Given the description of an element on the screen output the (x, y) to click on. 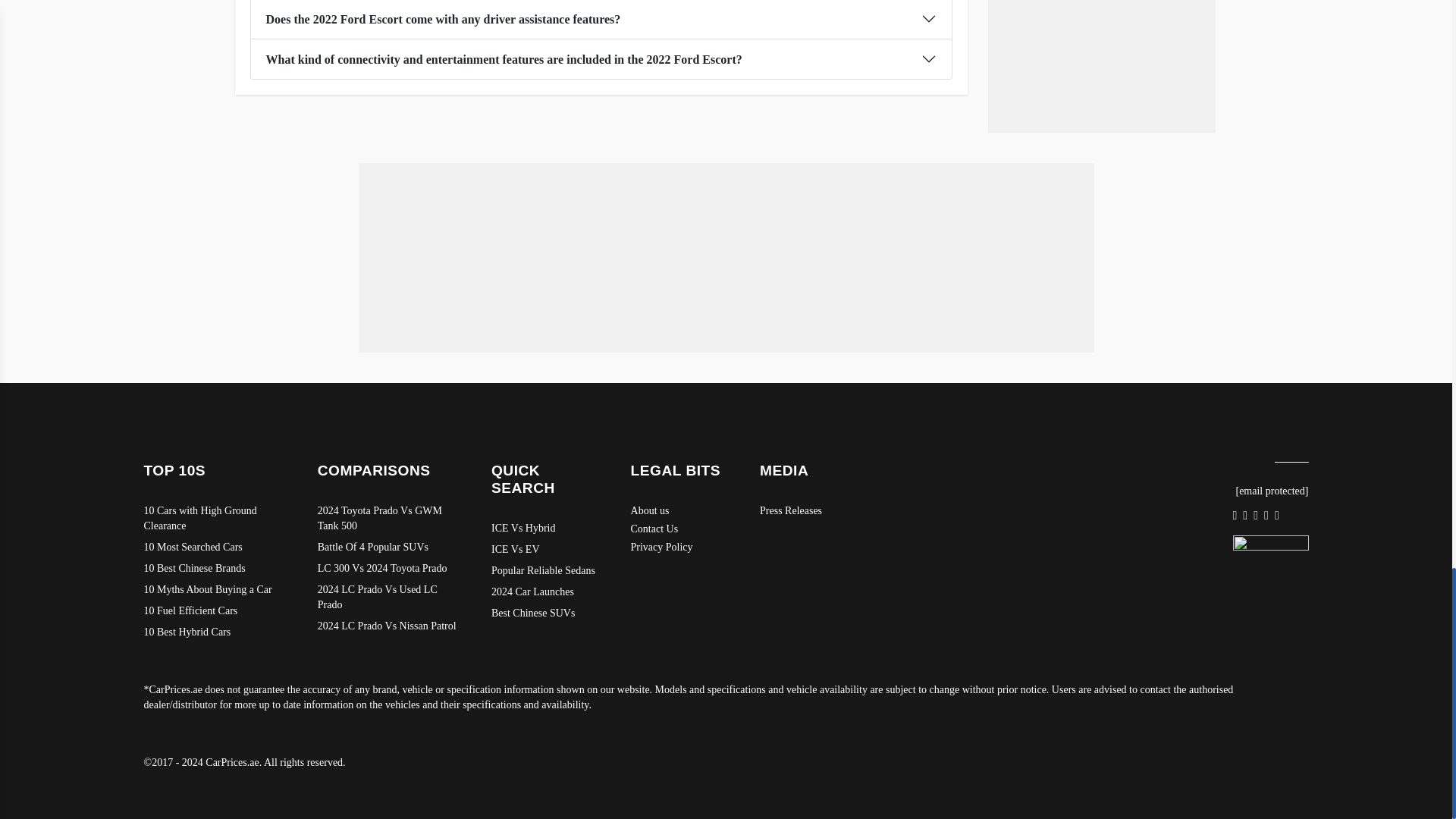
10 Cars with High Ground Clearance (215, 518)
10 Best Chinese Brands (215, 568)
10 Best Hybrid Cars (215, 631)
10 Most Searched Cars (215, 547)
2024 Toyota Prado Vs GWM Tank 500 (389, 518)
10 Fuel Efficient Cars (215, 611)
10 Myths About Buying a Car (215, 589)
